Given the description of an element on the screen output the (x, y) to click on. 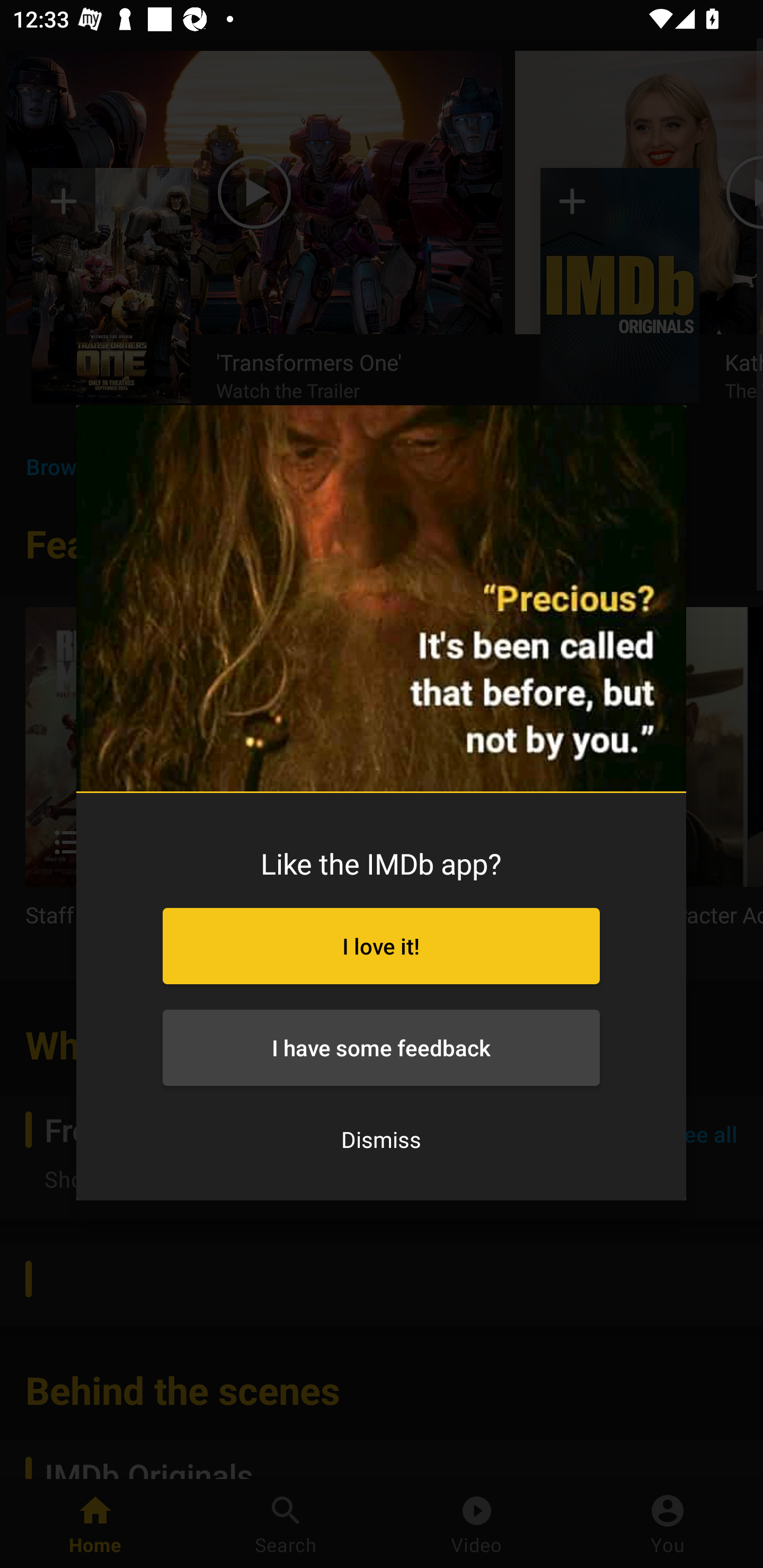
I love it! (380, 945)
I have some feedback (380, 1047)
Dismiss (380, 1139)
